Given the description of an element on the screen output the (x, y) to click on. 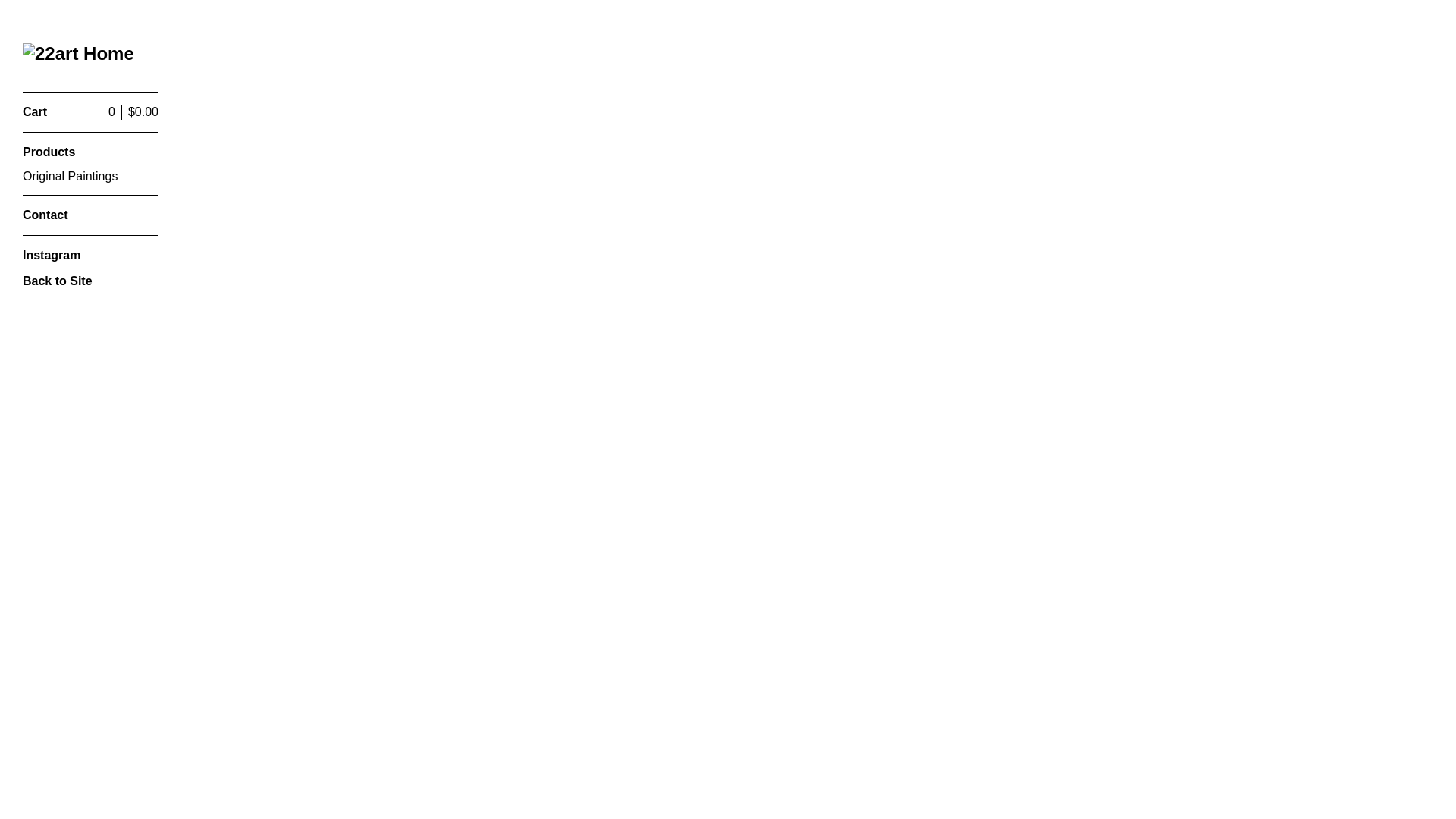
Cart
$0.00
0 Element type: text (90, 112)
Powered by Big Cartel Element type: text (52, 340)
22art Element type: hover (79, 54)
Products Element type: text (90, 152)
Back to Site Element type: text (90, 281)
Instagram Element type: text (90, 255)
Contact Element type: text (90, 215)
Original Paintings Element type: text (90, 176)
